Given the description of an element on the screen output the (x, y) to click on. 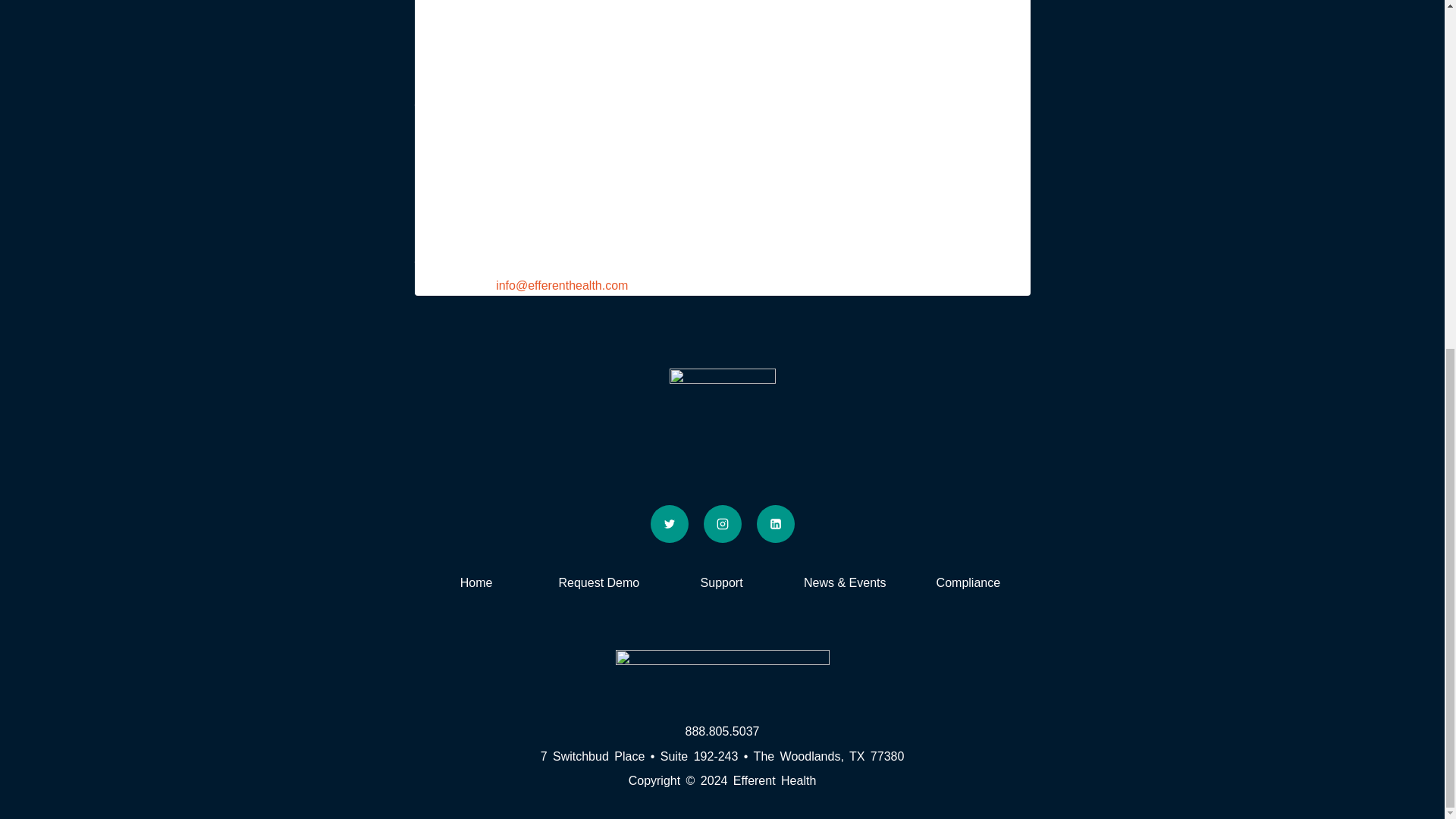
Compliance (967, 582)
Home (476, 582)
Request Demo (598, 582)
Support (721, 582)
